Given the description of an element on the screen output the (x, y) to click on. 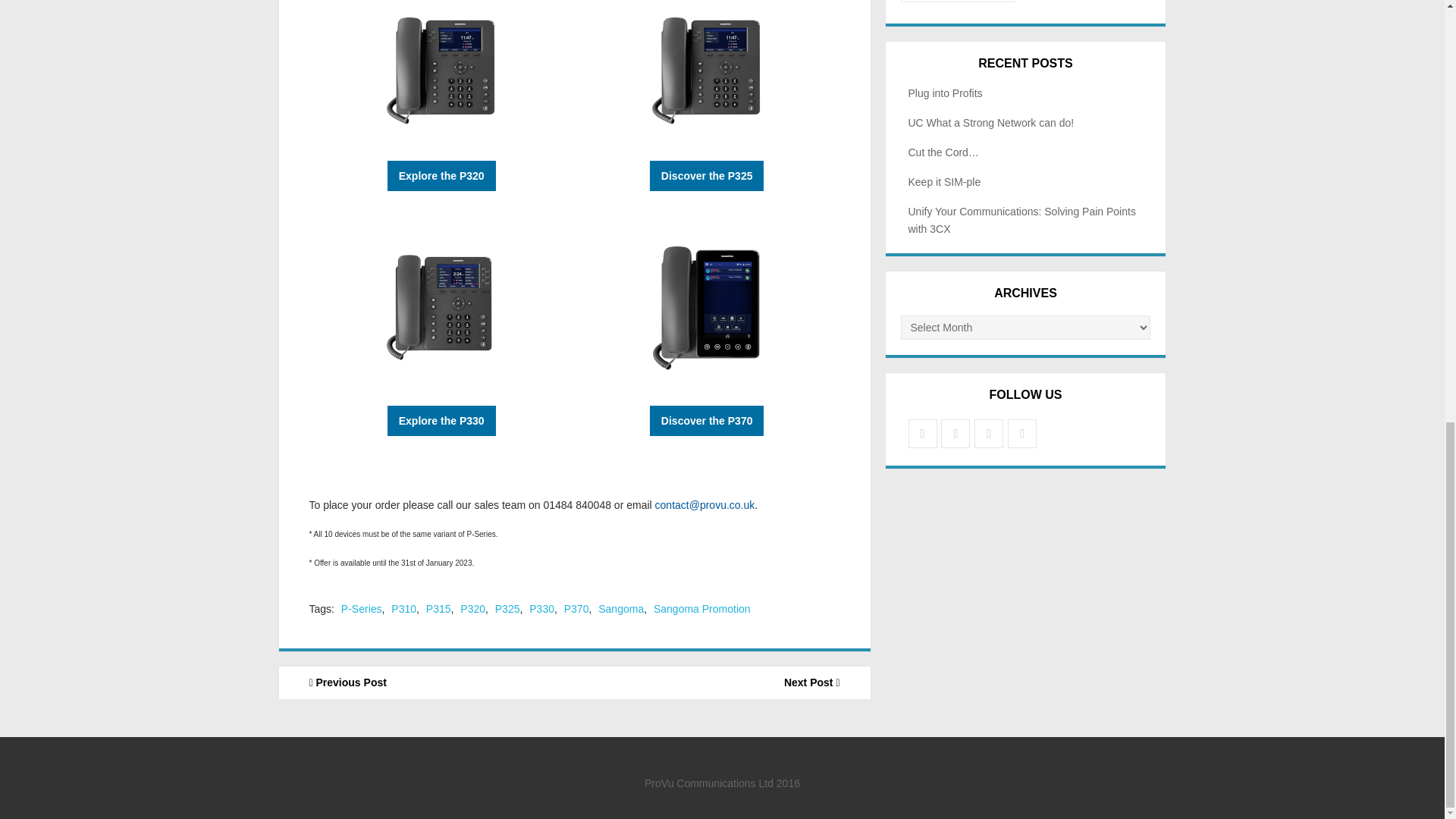
Next Post (722, 682)
Sangoma Promotion (702, 608)
Previous Post (427, 682)
Explore the P330 (441, 420)
P325 (507, 608)
P315 (438, 608)
P-Series (360, 608)
P320 (472, 608)
Sangoma (620, 608)
Discover the P370 (706, 420)
